Given the description of an element on the screen output the (x, y) to click on. 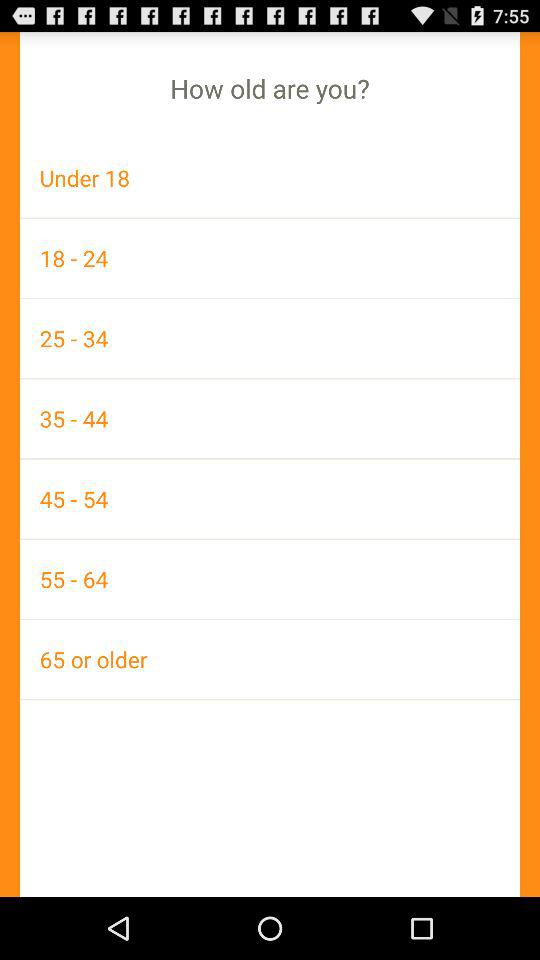
choose the icon below the 25 - 34 app (269, 418)
